Given the description of an element on the screen output the (x, y) to click on. 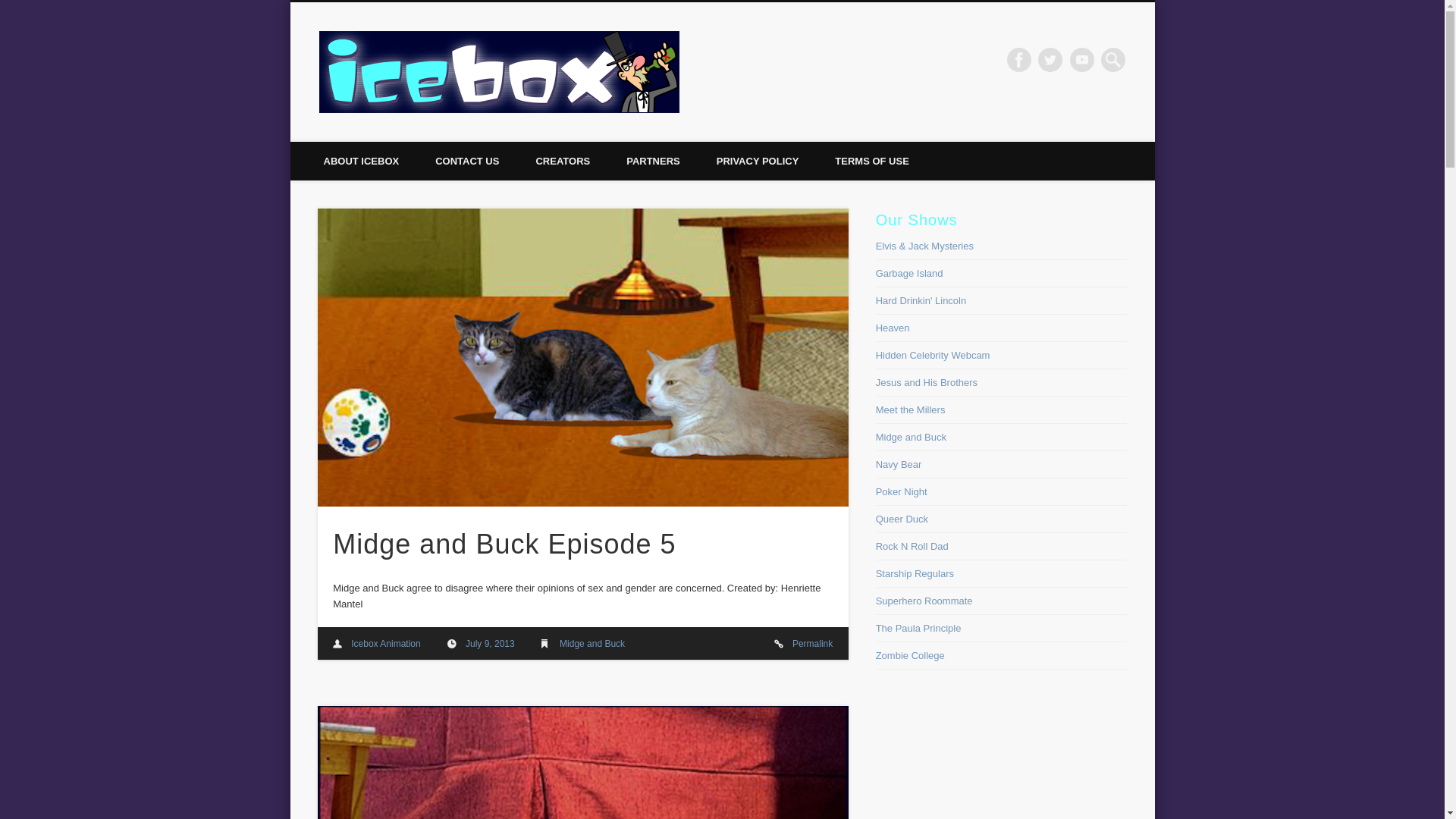
TERMS OF USE (871, 160)
ABOUT ICEBOX (360, 160)
July 9, 2013 (490, 643)
CREATORS (562, 160)
Midge and Buck Episode 4 (582, 762)
Midge and Buck Episode 5 (490, 643)
Vimeo (1082, 59)
Icebox Animation (385, 643)
Midge and Buck Episode 5 (812, 643)
CONTACT US (466, 160)
Permalink (812, 643)
Midge and Buck Episode 5 (504, 543)
PRIVACY POLICY (757, 160)
Twitter (1050, 59)
PARTNERS (653, 160)
